Given the description of an element on the screen output the (x, y) to click on. 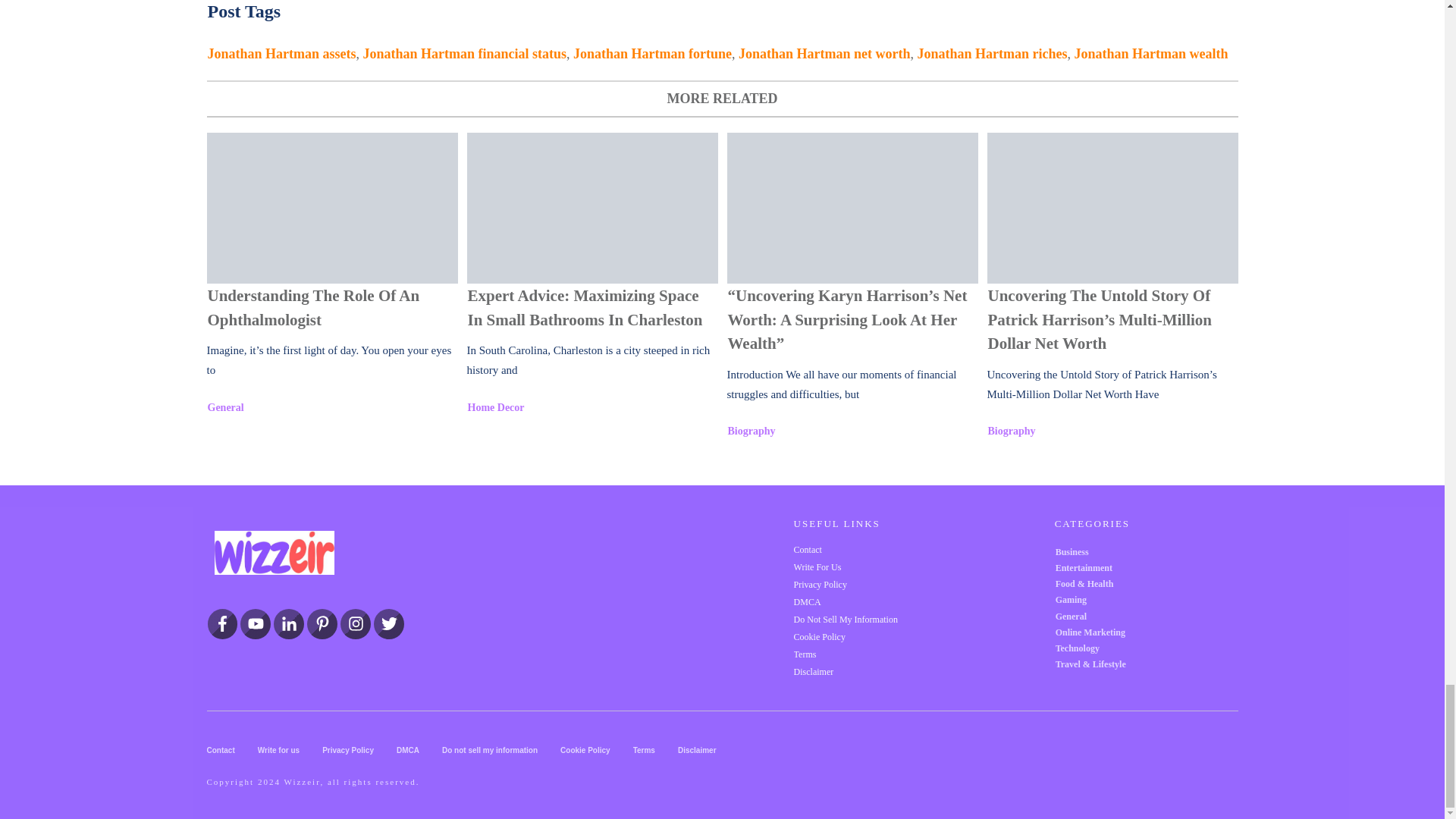
Jonathan Hartman financial status (464, 53)
Home Decor (495, 407)
Jonathan Hartman wealth (1151, 53)
Understanding the Role of an Ophthalmologist (331, 207)
Jonathan Hartman assets (282, 53)
Jonathan Hartman net worth (824, 53)
General (226, 407)
Jonathan Hartman fortune (652, 53)
Jonathan Hartman riches (992, 53)
